Given the description of an element on the screen output the (x, y) to click on. 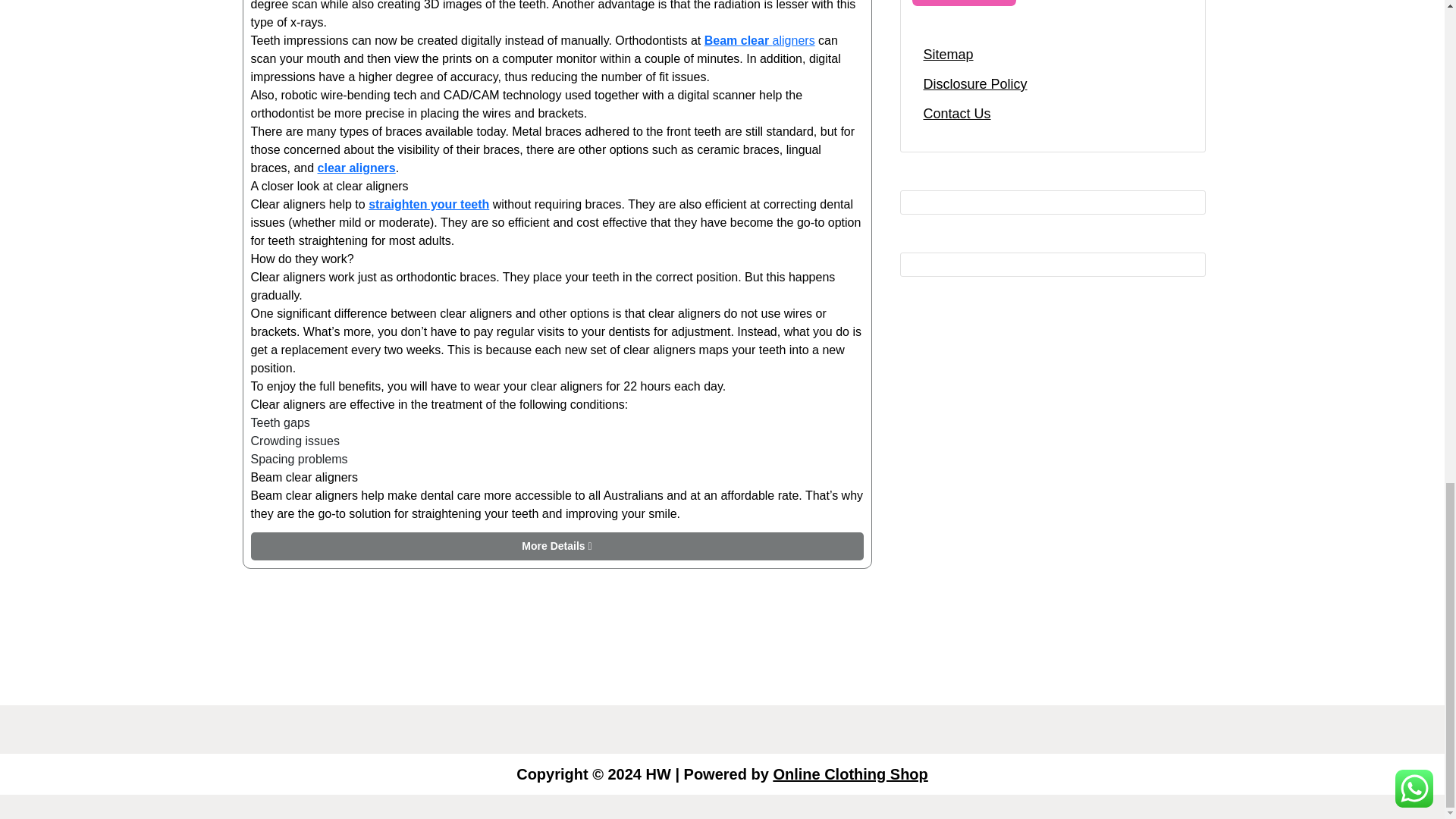
More Details (556, 546)
Beam clear aligners (759, 40)
straighten your teeth (428, 204)
clear aligners (356, 167)
